Given the description of an element on the screen output the (x, y) to click on. 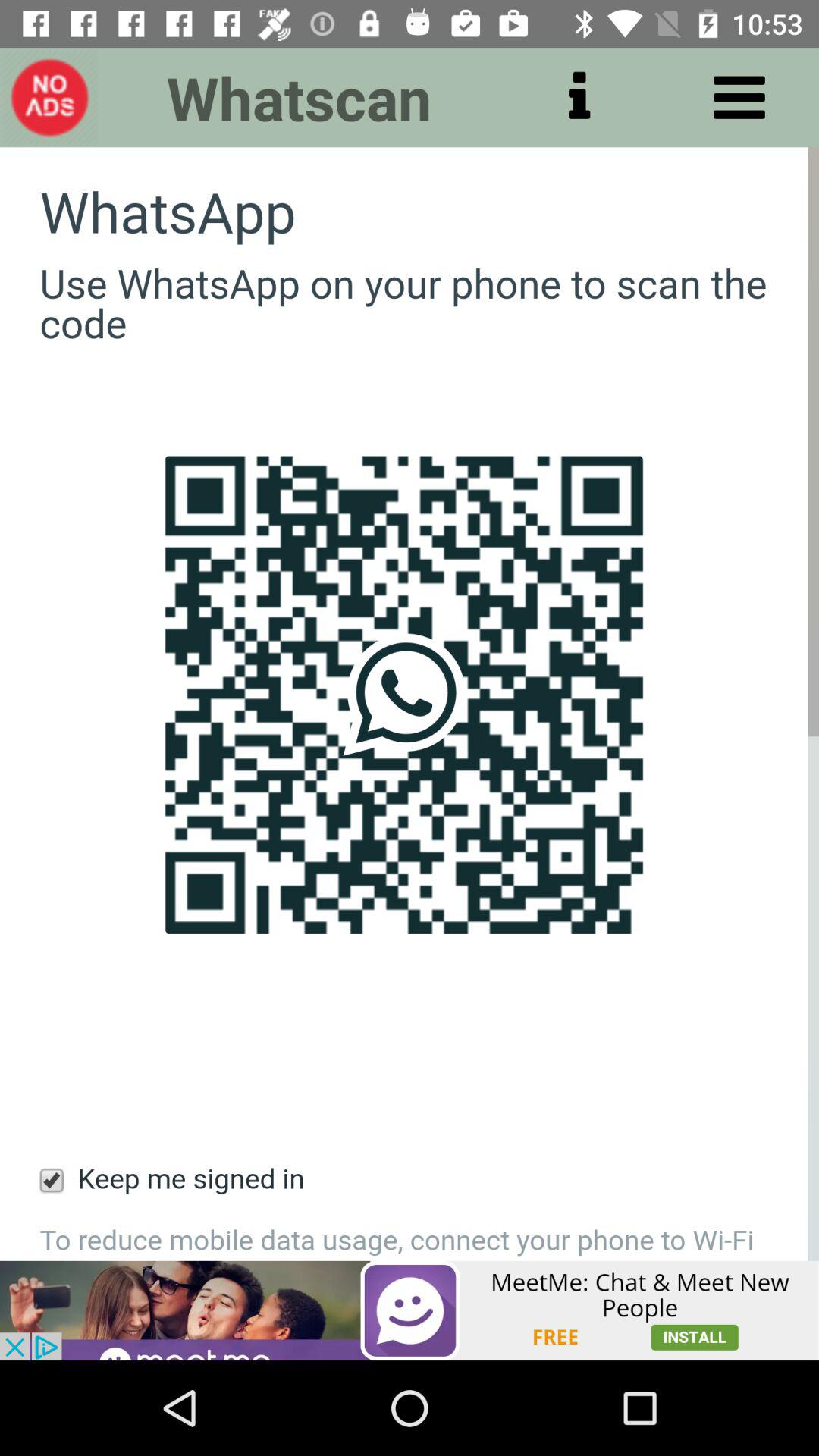
click to scan the code in mobile (409, 703)
